Given the description of an element on the screen output the (x, y) to click on. 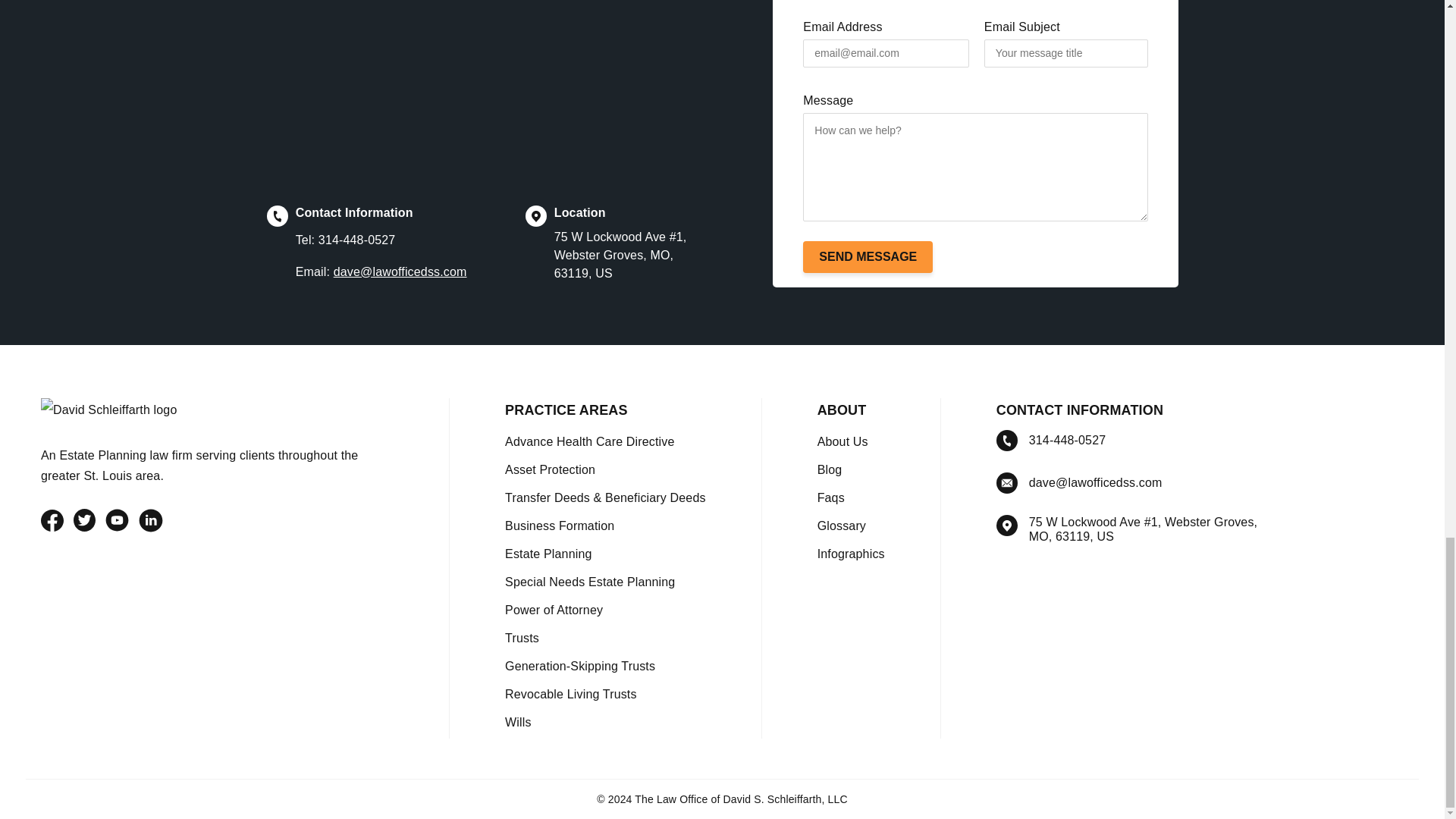
Send Message (868, 256)
